Given the description of an element on the screen output the (x, y) to click on. 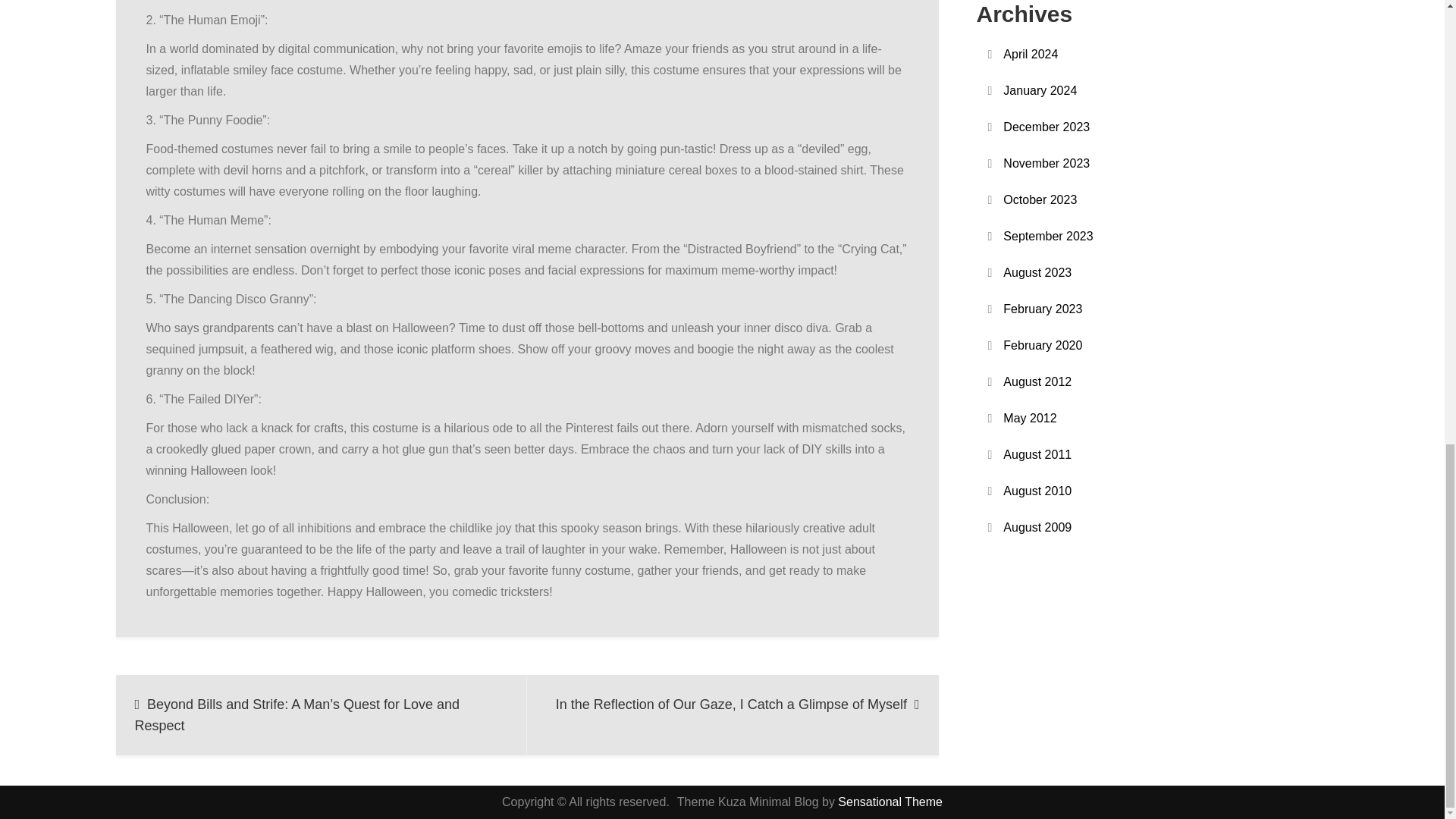
January 2024 (1040, 90)
October 2023 (1040, 199)
February 2020 (1042, 345)
August 2011 (1037, 455)
Sensational Theme (890, 801)
February 2023 (1042, 309)
December 2023 (1046, 127)
August 2010 (1037, 491)
August 2012 (1037, 382)
August 2009 (1037, 527)
September 2023 (1048, 236)
April 2024 (1030, 54)
November 2023 (1046, 163)
In the Reflection of Our Gaze, I Catch a Glimpse of Myself (733, 714)
May 2012 (1030, 418)
